Given the description of an element on the screen output the (x, y) to click on. 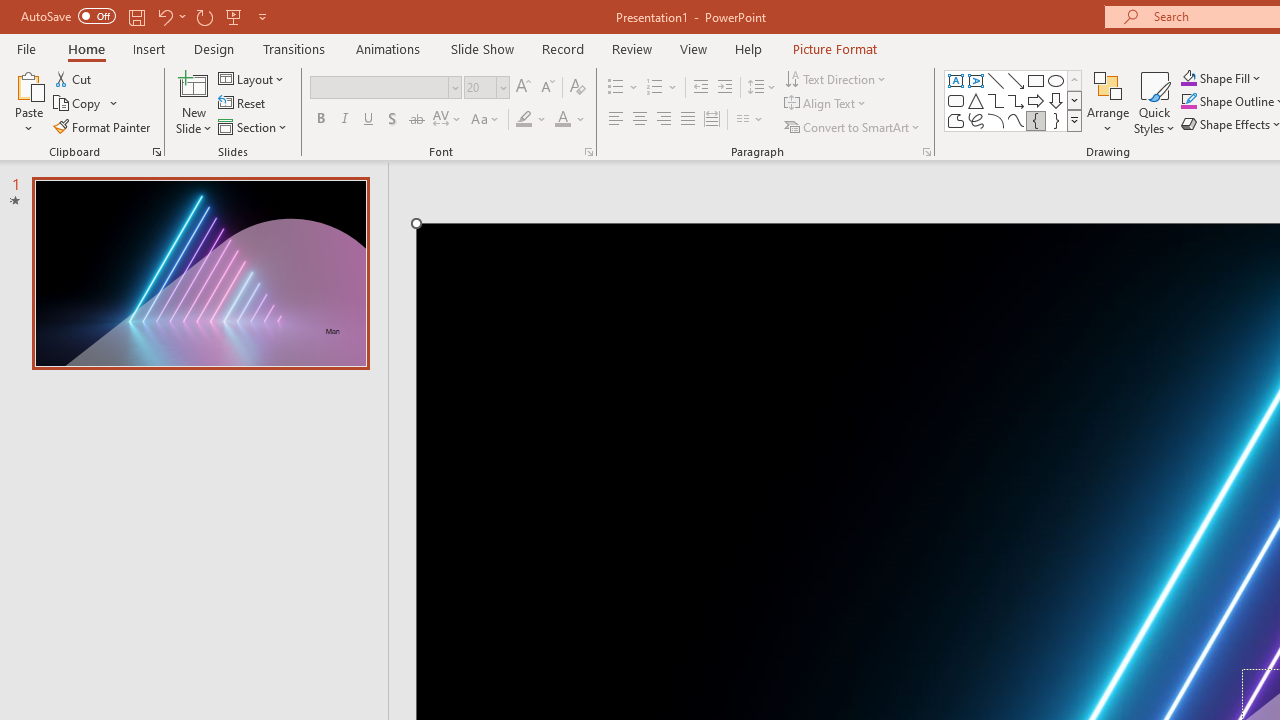
Picture Format (834, 48)
